Given the description of an element on the screen output the (x, y) to click on. 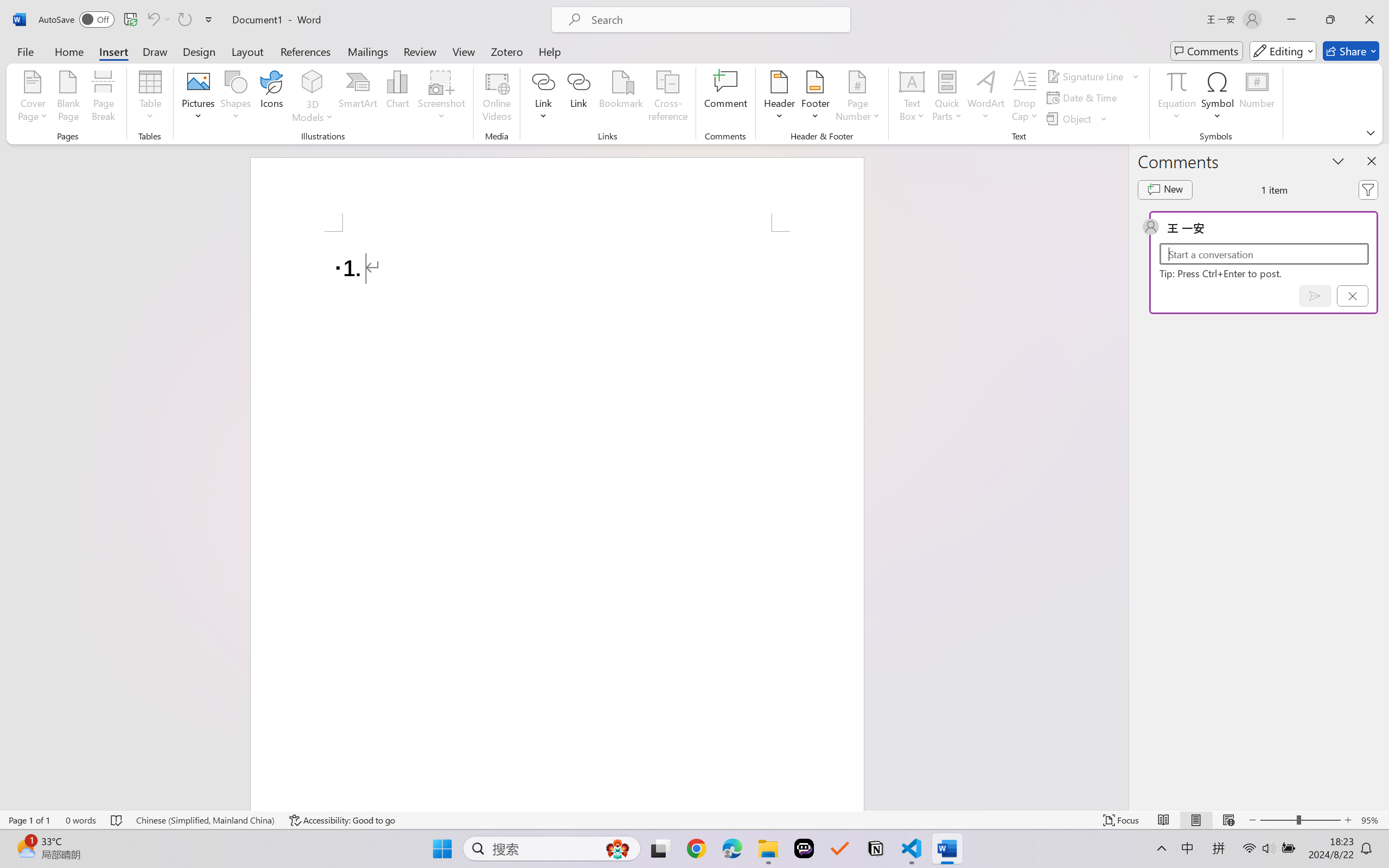
Page Number (857, 97)
Link (578, 97)
